Given the description of an element on the screen output the (x, y) to click on. 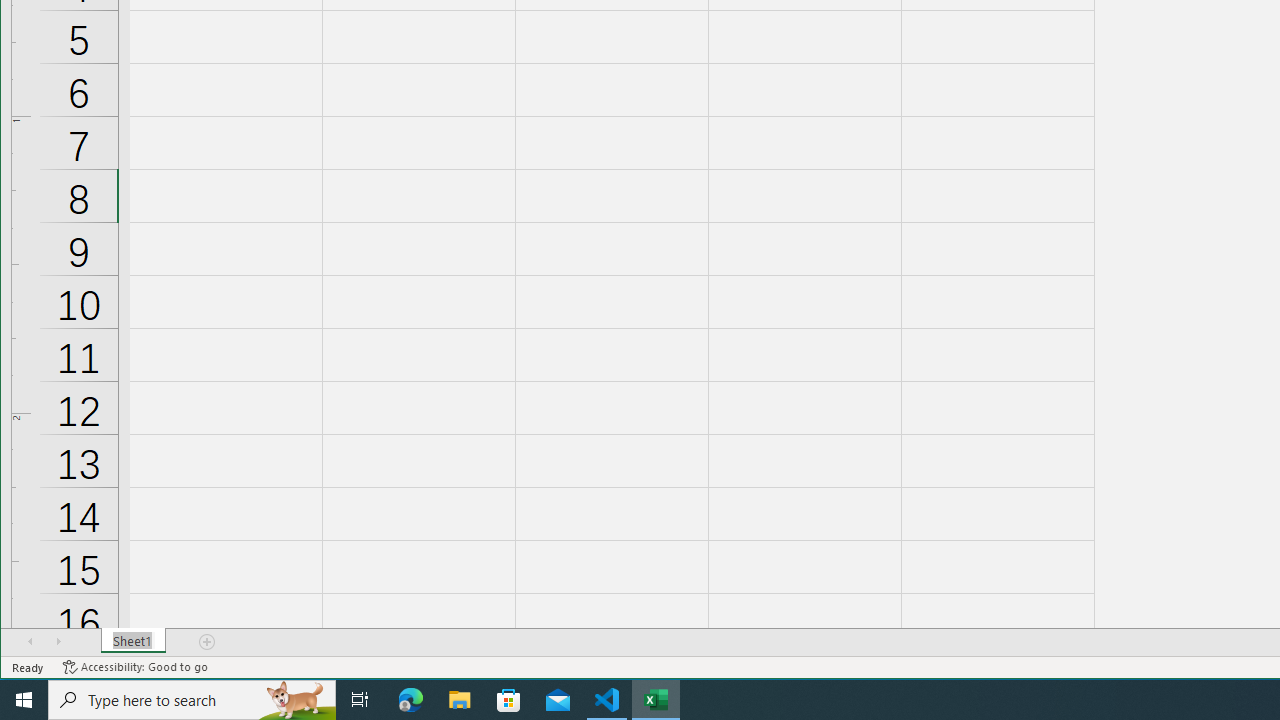
Add Sheet (207, 641)
File Explorer (460, 699)
Start (24, 699)
Scroll Right (58, 641)
Sheet1 (133, 641)
Accessibility Checker Accessibility: Good to go (135, 667)
Search highlights icon opens search home window (295, 699)
Type here to search (191, 699)
Task View (359, 699)
Excel - 1 running window (656, 699)
Microsoft Store (509, 699)
Microsoft Edge (411, 699)
Scroll Left (30, 641)
Visual Studio Code - 1 running window (607, 699)
